Given the description of an element on the screen output the (x, y) to click on. 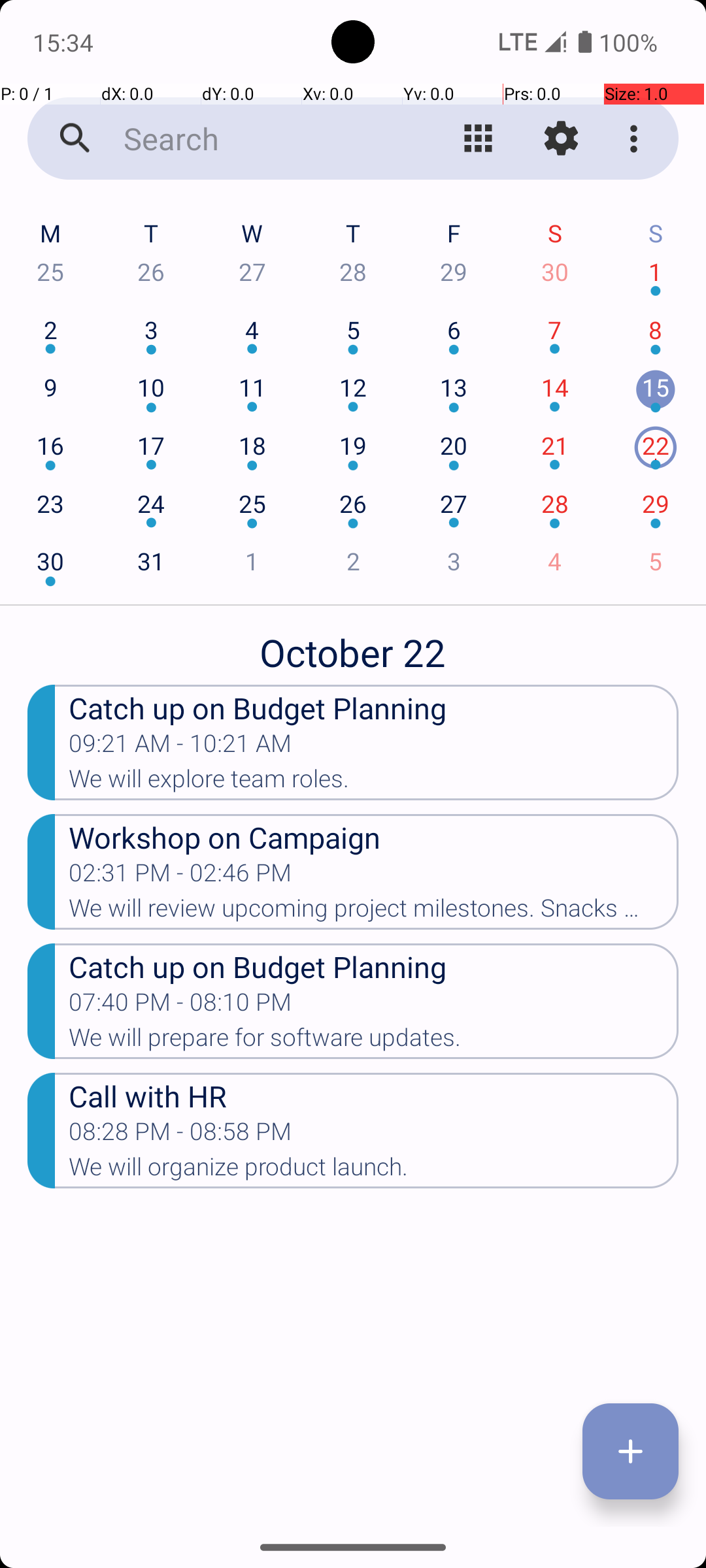
October 22 Element type: android.widget.TextView (352, 644)
09:21 AM - 10:21 AM Element type: android.widget.TextView (179, 747)
We will explore team roles. Element type: android.widget.TextView (373, 782)
02:31 PM - 02:46 PM Element type: android.widget.TextView (179, 876)
We will review upcoming project milestones. Snacks will be provided. Element type: android.widget.TextView (373, 911)
07:40 PM - 08:10 PM Element type: android.widget.TextView (179, 1005)
We will prepare for software updates. Element type: android.widget.TextView (373, 1041)
08:28 PM - 08:58 PM Element type: android.widget.TextView (179, 1135)
We will organize product launch. Element type: android.widget.TextView (373, 1170)
